Given the description of an element on the screen output the (x, y) to click on. 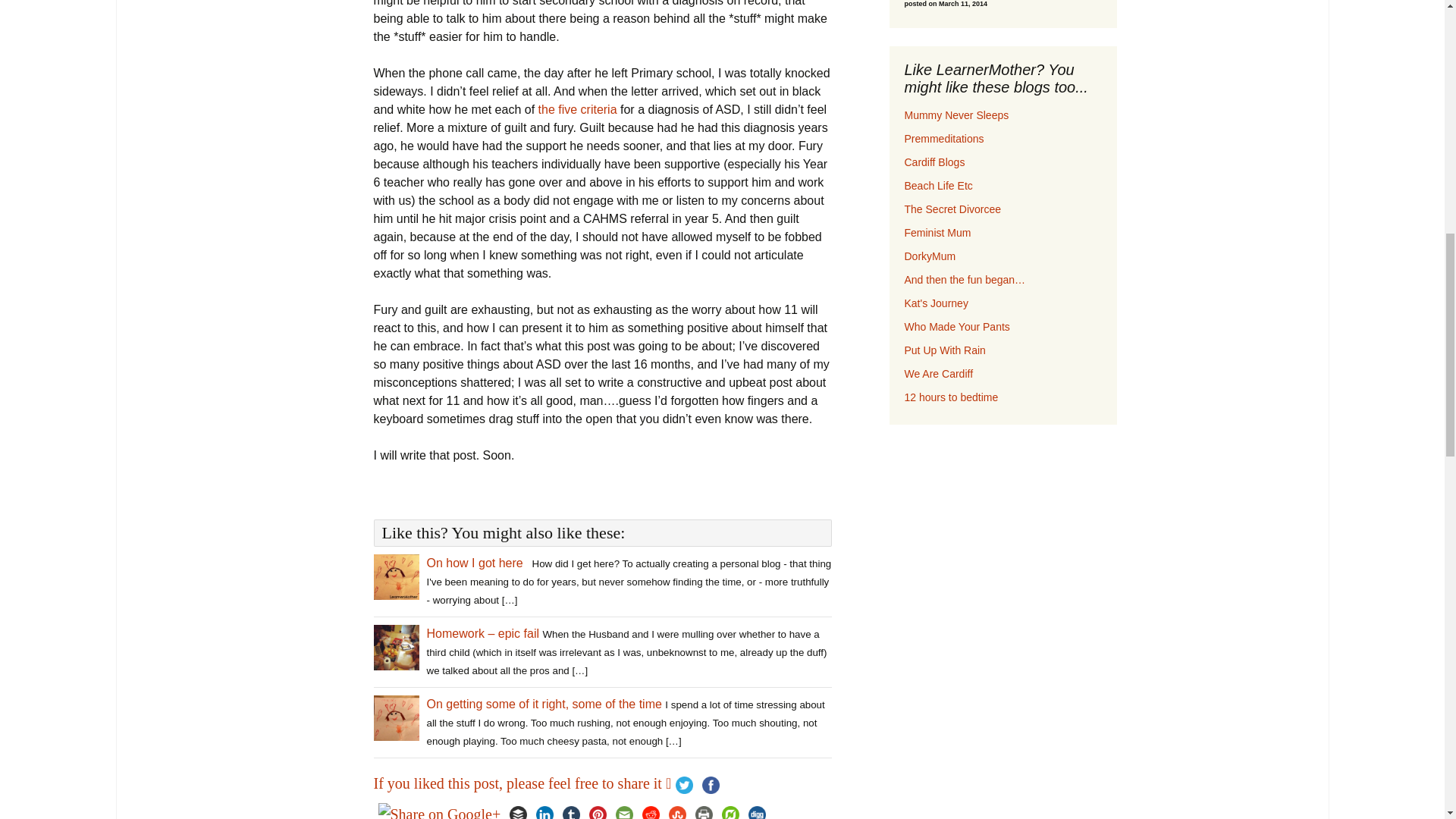
StumbleUpon (676, 810)
Buffer (518, 810)
Reddit (650, 810)
Twitter (684, 785)
Facebook (710, 785)
Email (624, 810)
Flattr (730, 810)
Email Address (1358, 167)
LinkedIn (544, 810)
On how I got here (474, 562)
